Given the description of an element on the screen output the (x, y) to click on. 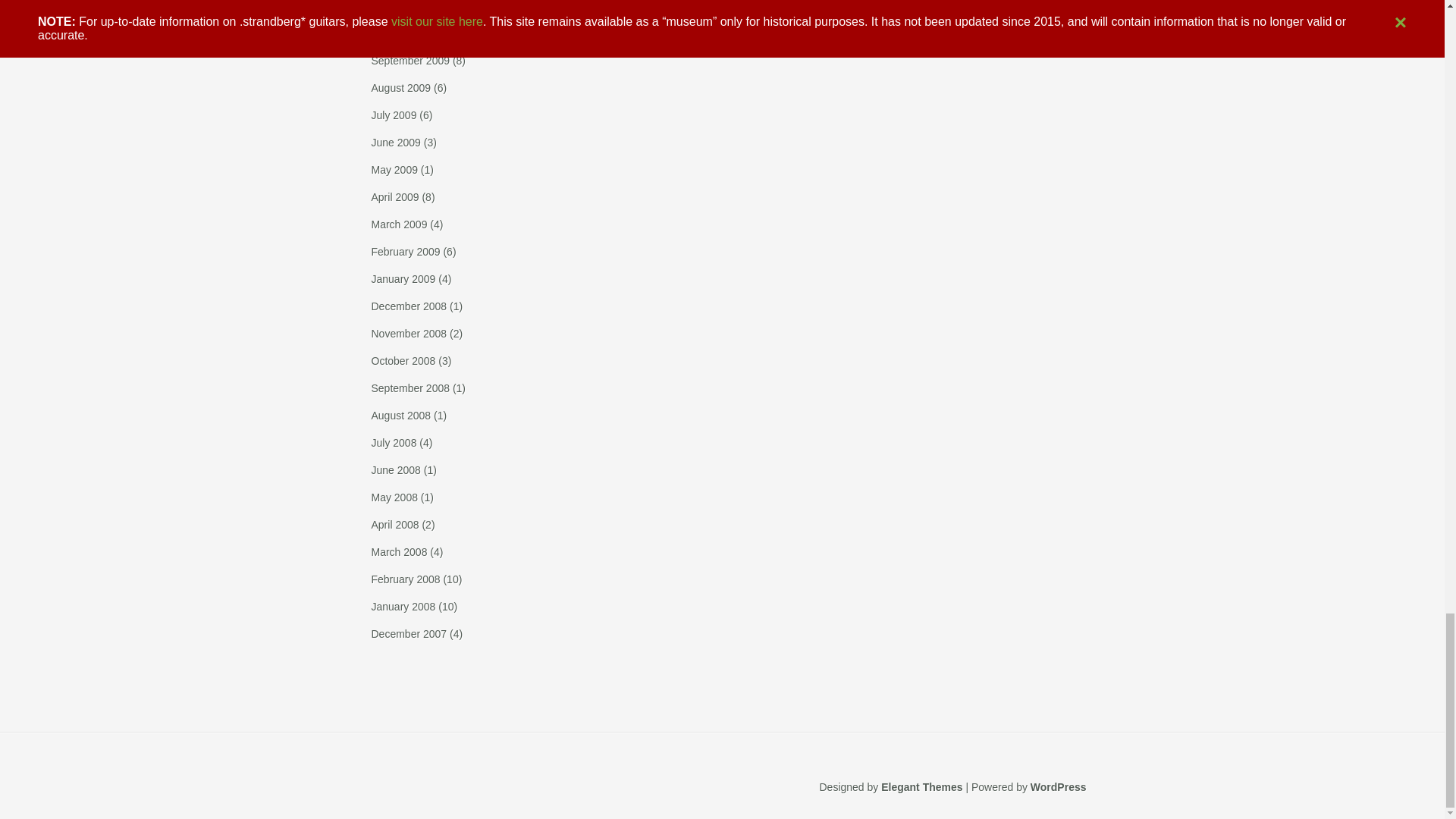
Premium WordPress Themes (921, 787)
